Given the description of an element on the screen output the (x, y) to click on. 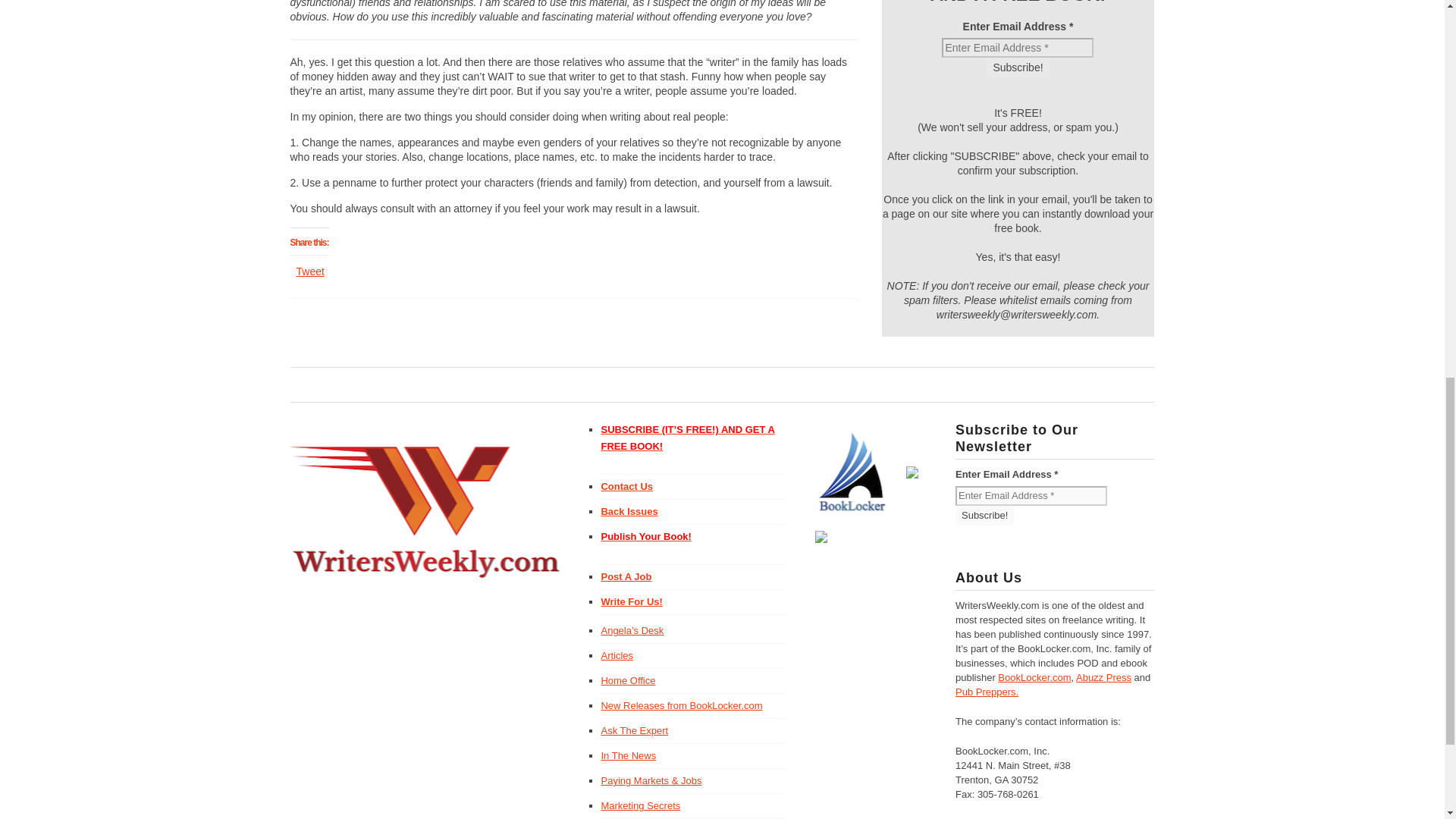
Articles (616, 655)
Back Issues (628, 511)
Enter Email Address (1017, 47)
Enter Email Address (1030, 496)
Contact Us (625, 486)
Publish Your Book! (691, 536)
Subscribe! (984, 515)
Post A Job (624, 576)
Tweet (309, 271)
Subscribe! (1017, 66)
